Given the description of an element on the screen output the (x, y) to click on. 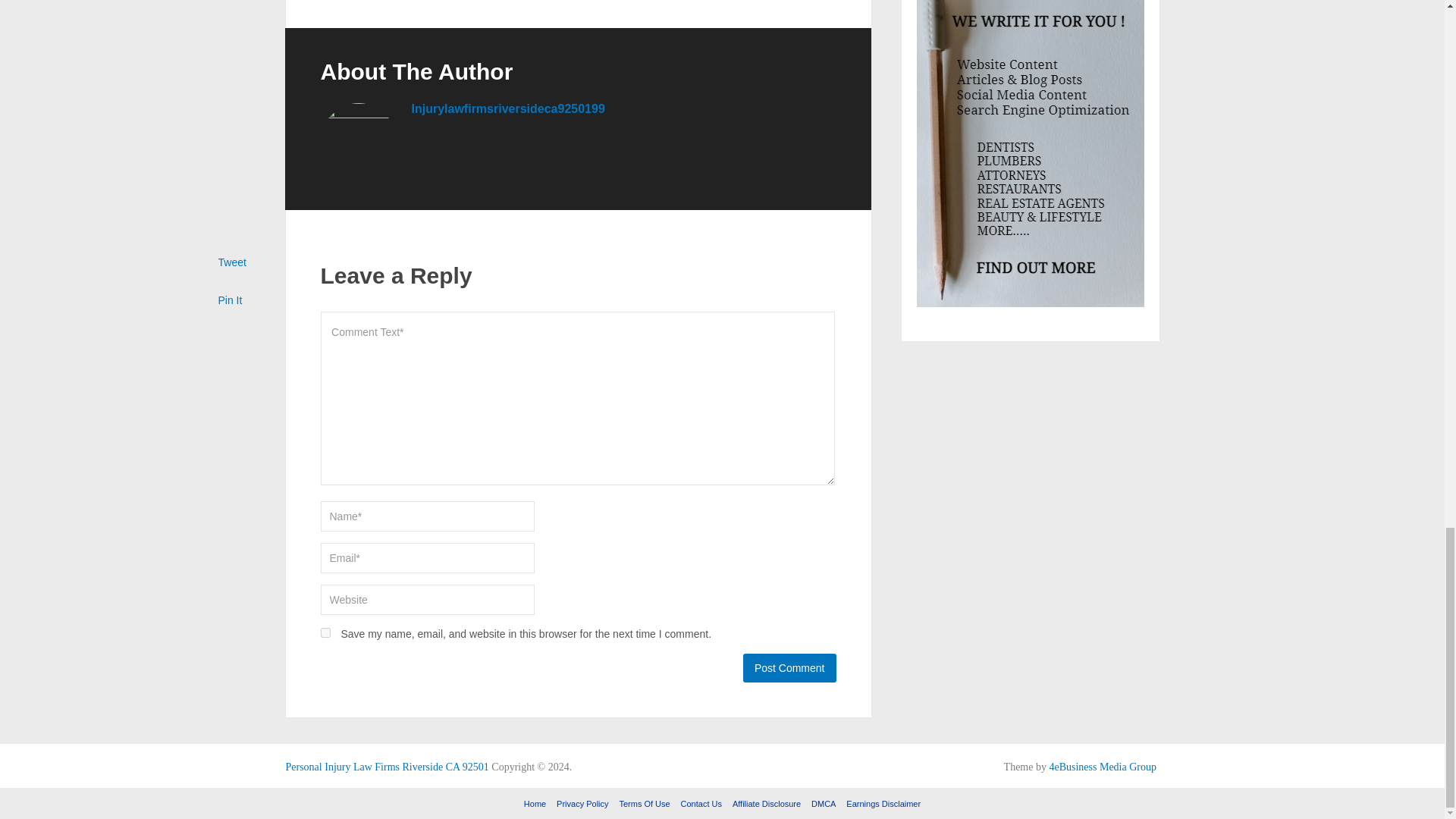
Post Comment (788, 667)
yes (325, 633)
 Personal Injury Law Firms Riverside CA 92501 (386, 767)
